Given the description of an element on the screen output the (x, y) to click on. 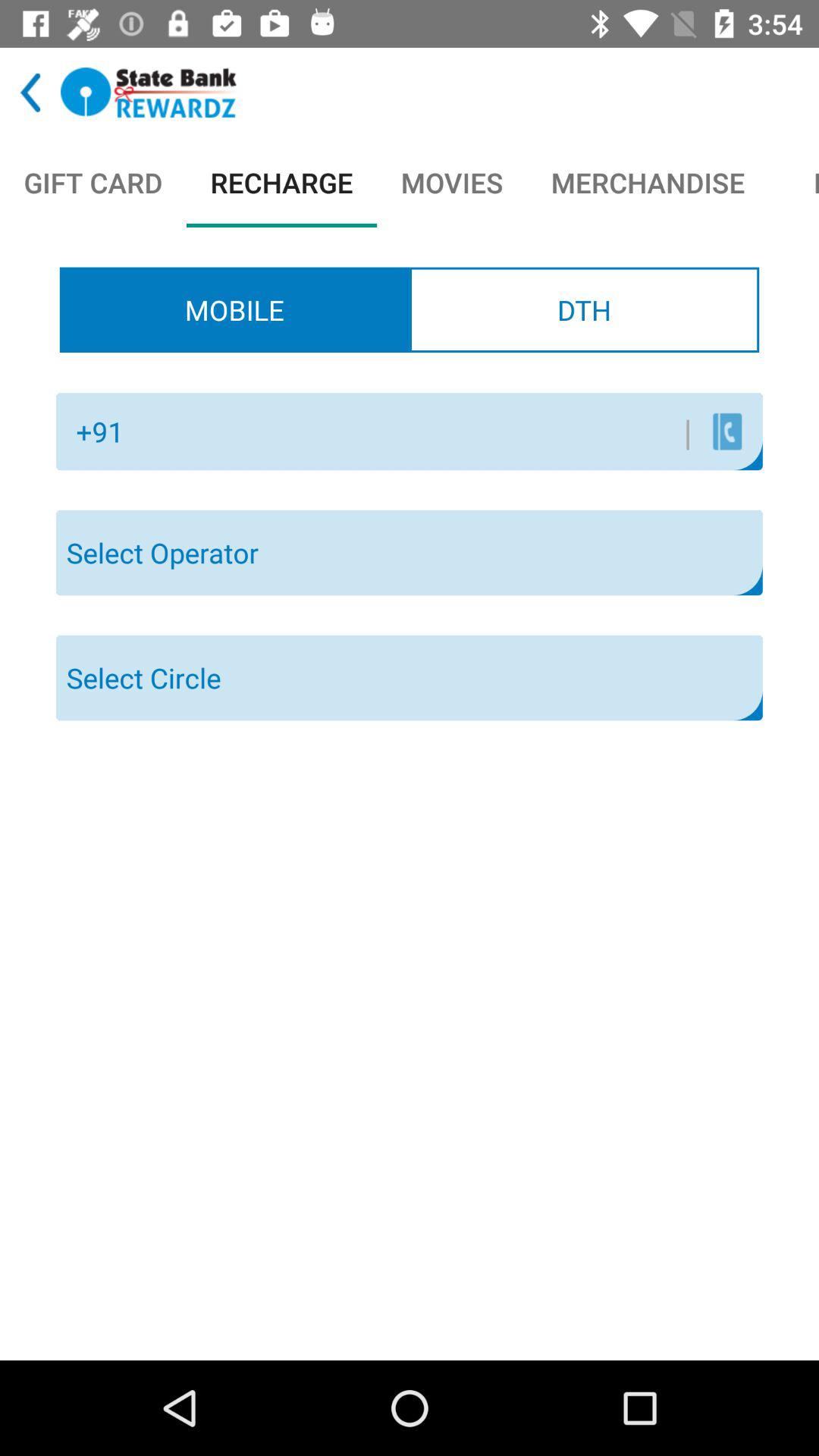
open the item below the dth (727, 431)
